Given the description of an element on the screen output the (x, y) to click on. 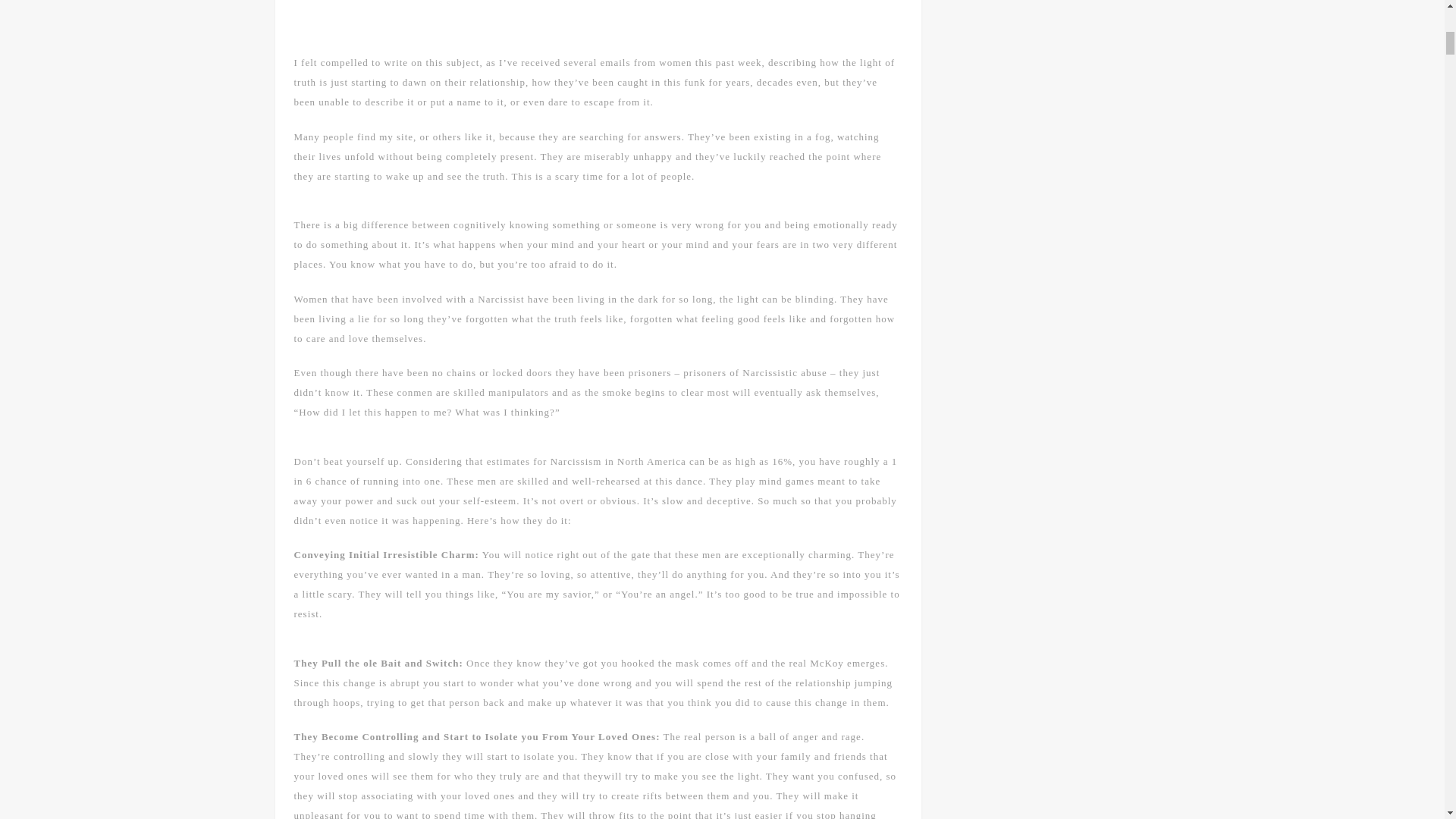
Advertisement (596, 20)
